Given the description of an element on the screen output the (x, y) to click on. 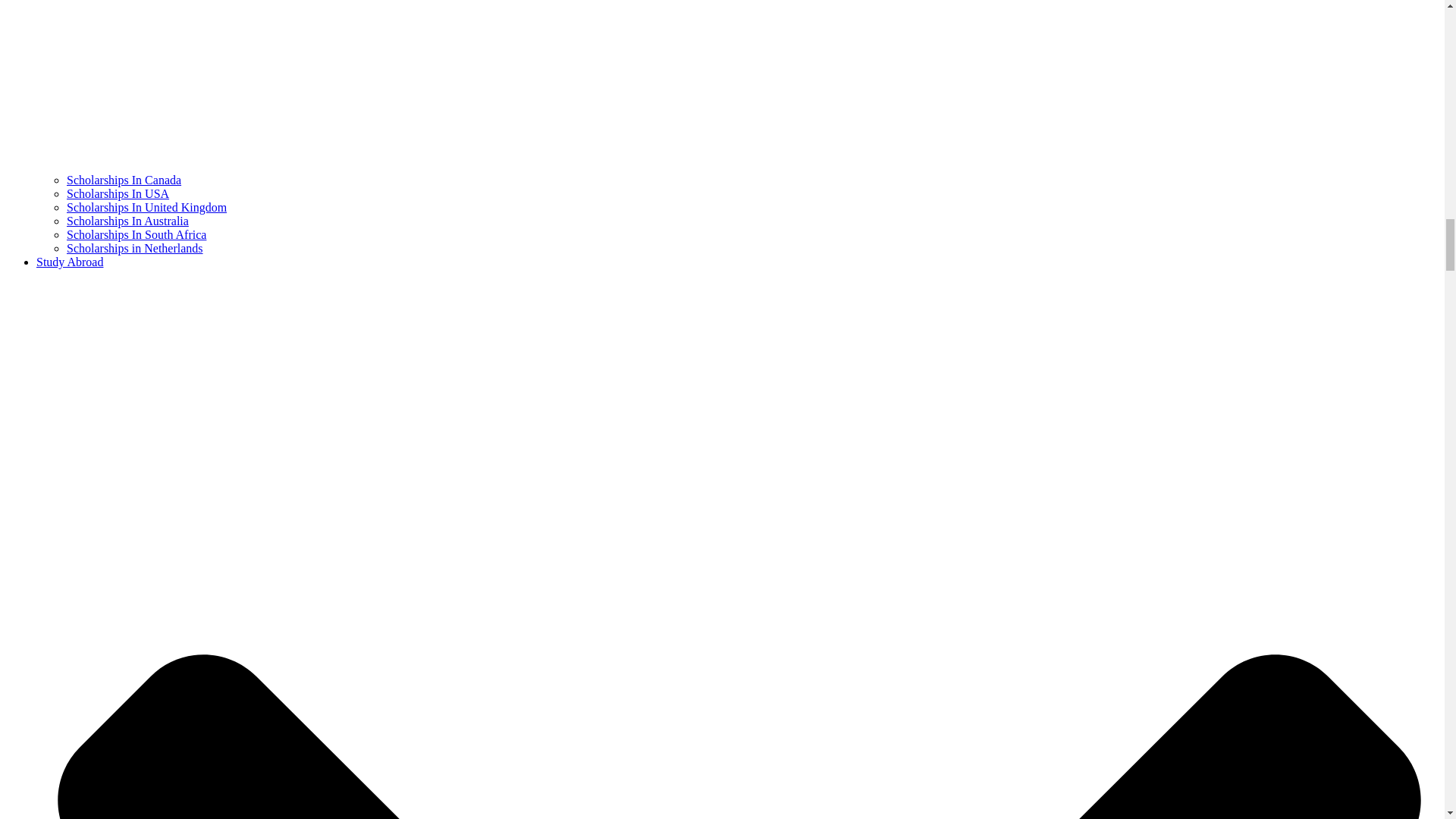
Scholarships in Netherlands (134, 247)
Scholarships In Canada (123, 179)
Scholarships In South Africa (136, 234)
Scholarships In USA (117, 193)
Study Abroad (69, 261)
Scholarships In United Kingdom (146, 206)
Scholarships In Australia (127, 220)
